Given the description of an element on the screen output the (x, y) to click on. 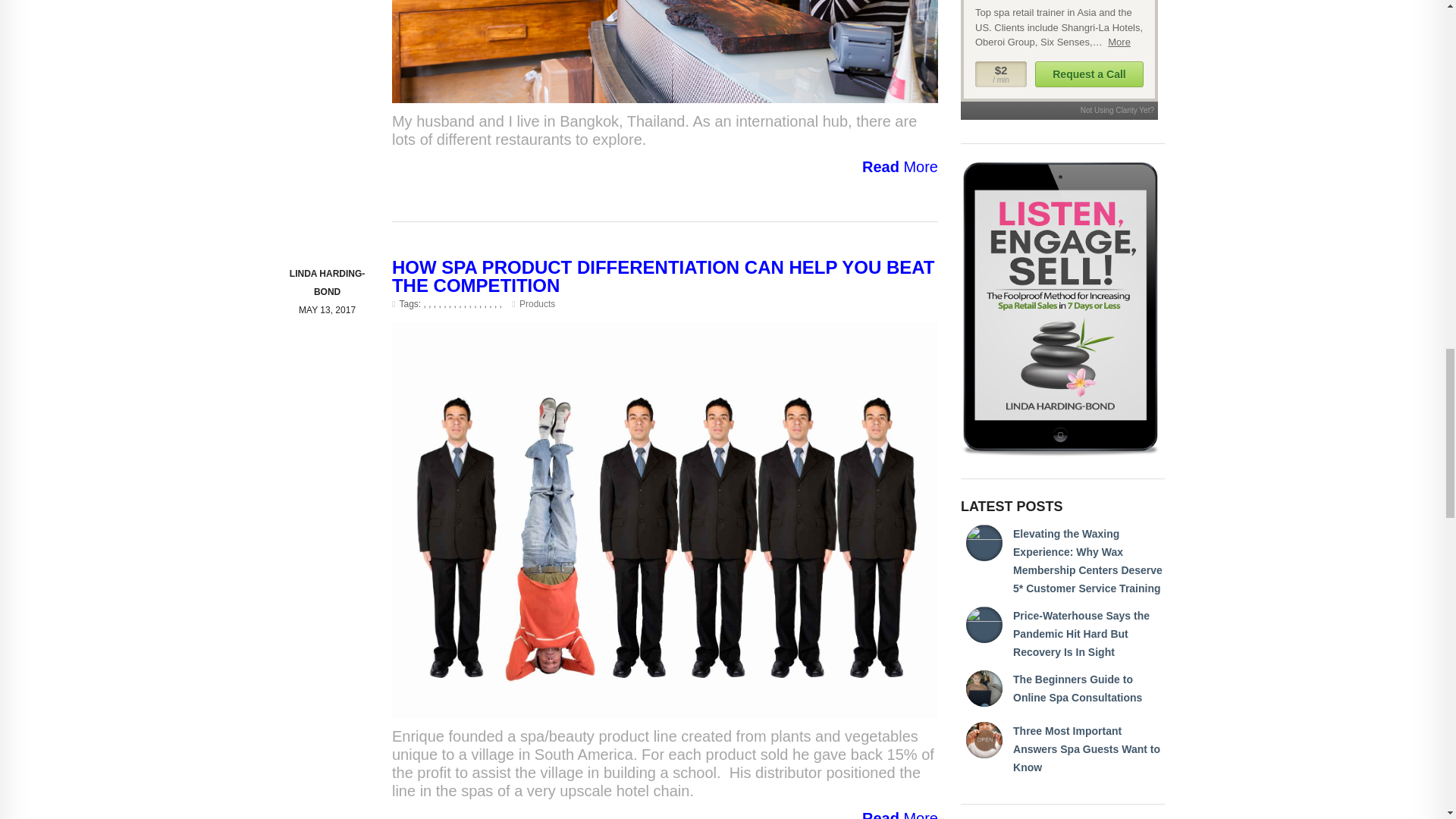
Read More (664, 167)
Three Most Important Answers Spa Guests Want to Know (1086, 748)
The Beginners Guide to Online Spa Consultations (1077, 688)
